Given the description of an element on the screen output the (x, y) to click on. 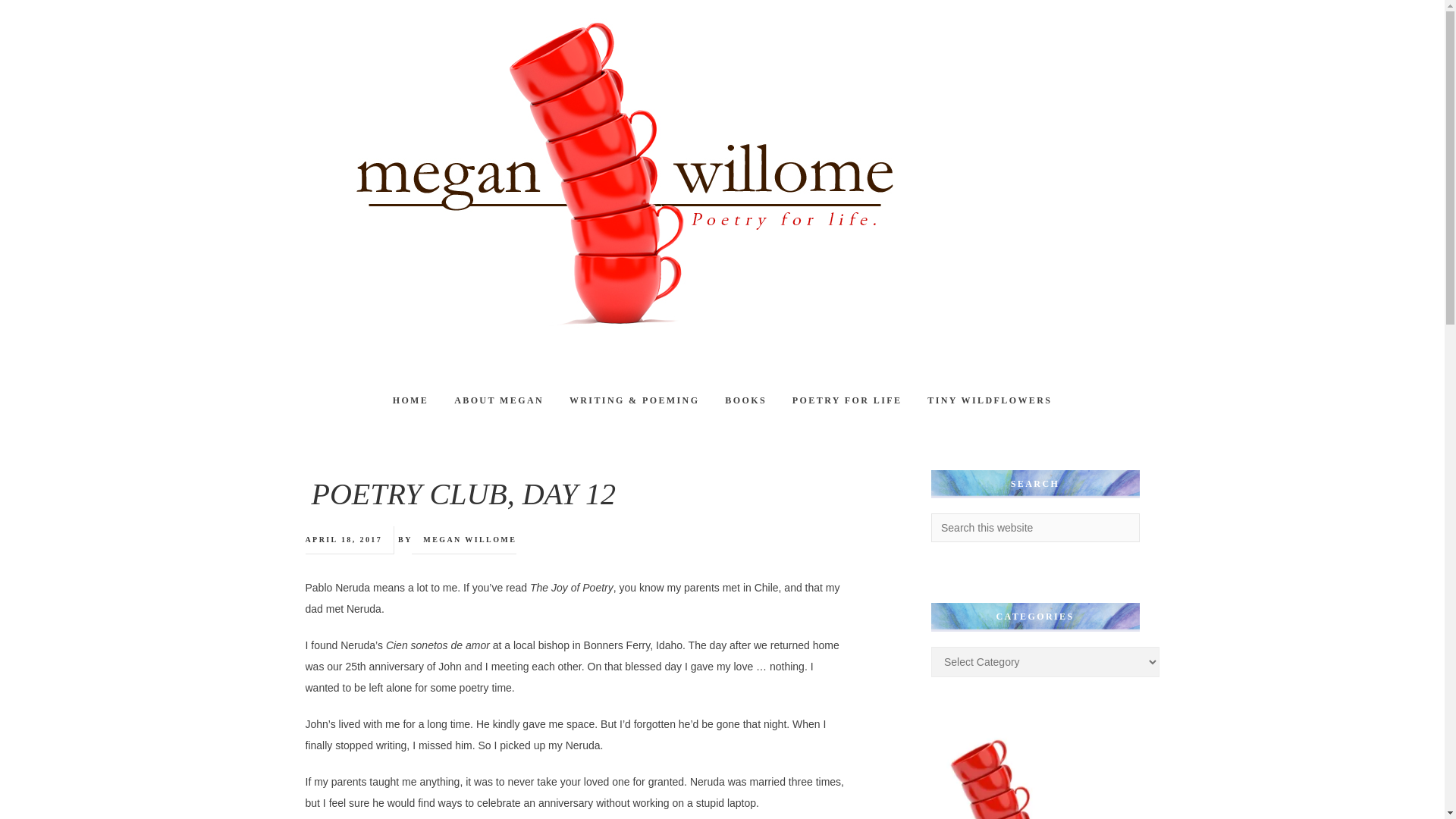
POETRY FOR LIFE (846, 400)
MEGAN WILLOME (469, 539)
ABOUT MEGAN (498, 400)
TINY WILDFLOWERS (988, 400)
